Given the description of an element on the screen output the (x, y) to click on. 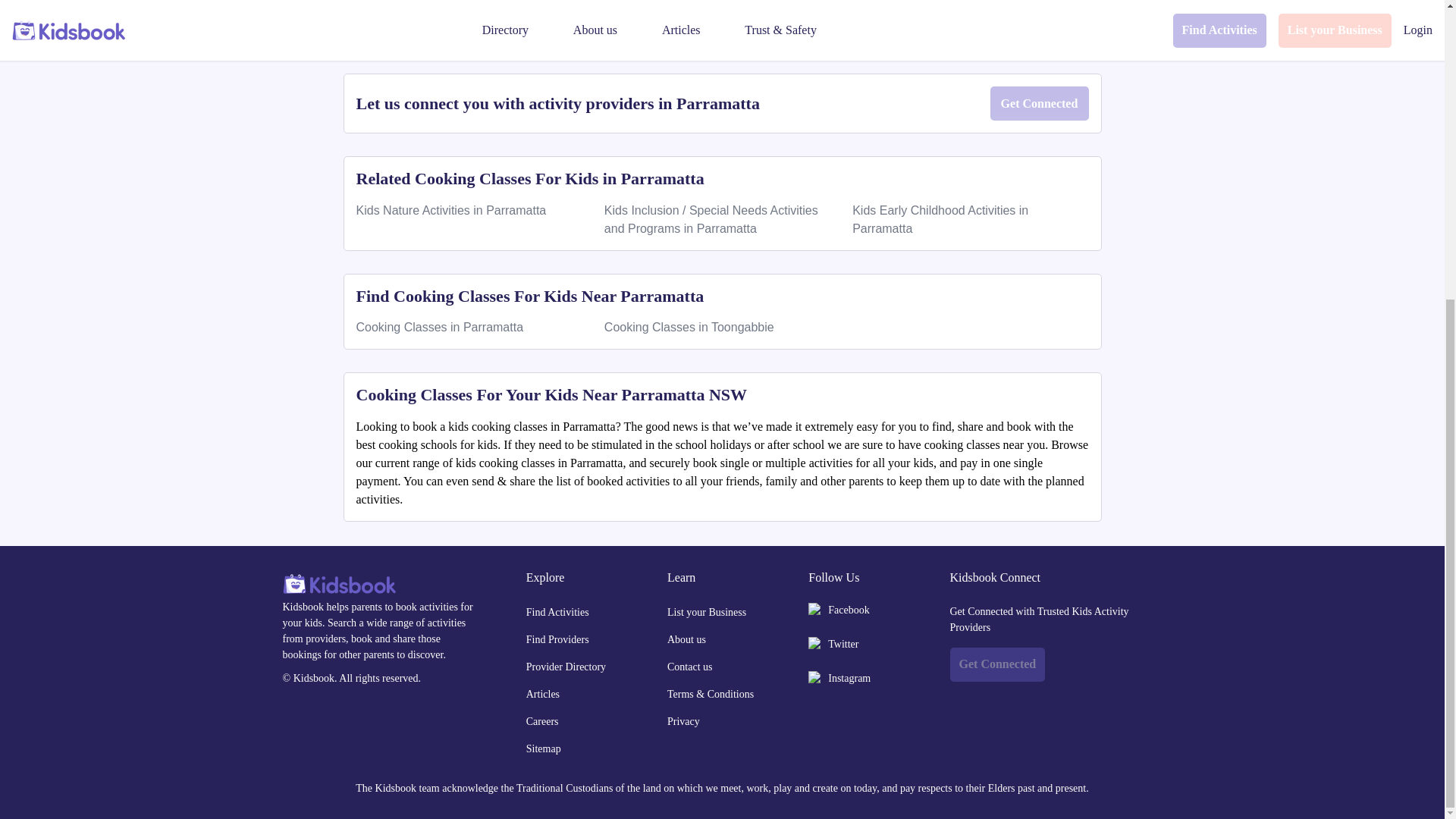
Cooking Classes in Parramatta (440, 327)
Facebook (848, 609)
Sitemap (573, 748)
About us (713, 639)
Privacy (713, 721)
Kids Early Childhood Activities in Parramatta (939, 219)
Instagram (849, 677)
Find Activities (573, 612)
Cooking Classes in Toongabbie (689, 327)
Kids Nature Activities in Parramatta (451, 210)
